Given the description of an element on the screen output the (x, y) to click on. 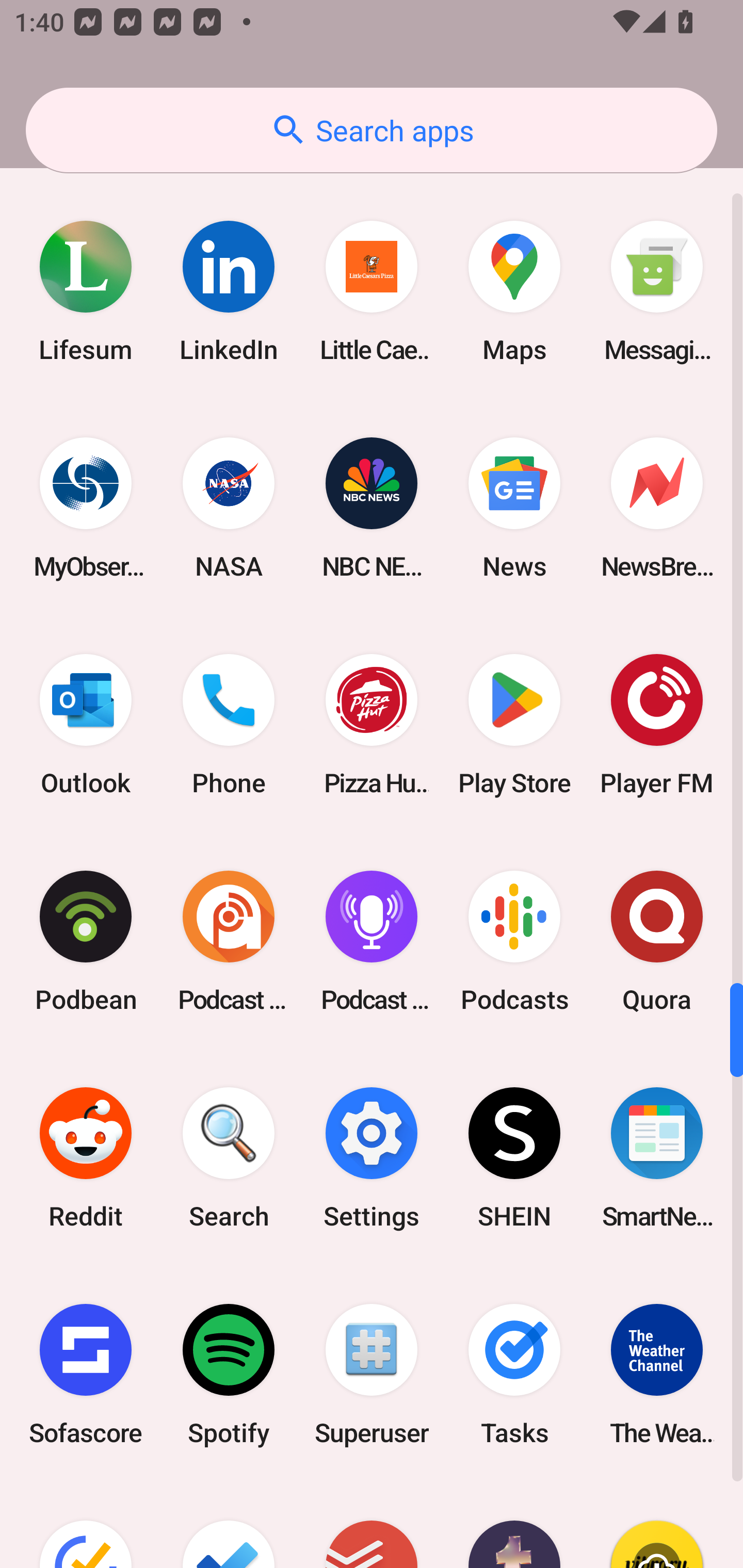
  Search apps (371, 130)
Lifesum (85, 291)
LinkedIn (228, 291)
Little Caesars Pizza (371, 291)
Maps (514, 291)
Messaging (656, 291)
MyObservatory (85, 507)
NASA (228, 507)
NBC NEWS (371, 507)
News (514, 507)
NewsBreak (656, 507)
Outlook (85, 724)
Phone (228, 724)
Pizza Hut HK & Macau (371, 724)
Play Store (514, 724)
Player FM (656, 724)
Podbean (85, 940)
Podcast Addict (228, 940)
Podcast Player (371, 940)
Podcasts (514, 940)
Quora (656, 940)
Reddit (85, 1157)
Search (228, 1157)
Settings (371, 1157)
SHEIN (514, 1157)
SmartNews (656, 1157)
Sofascore (85, 1374)
Spotify (228, 1374)
Superuser (371, 1374)
Tasks (514, 1374)
The Weather Channel (656, 1374)
